Given the description of an element on the screen output the (x, y) to click on. 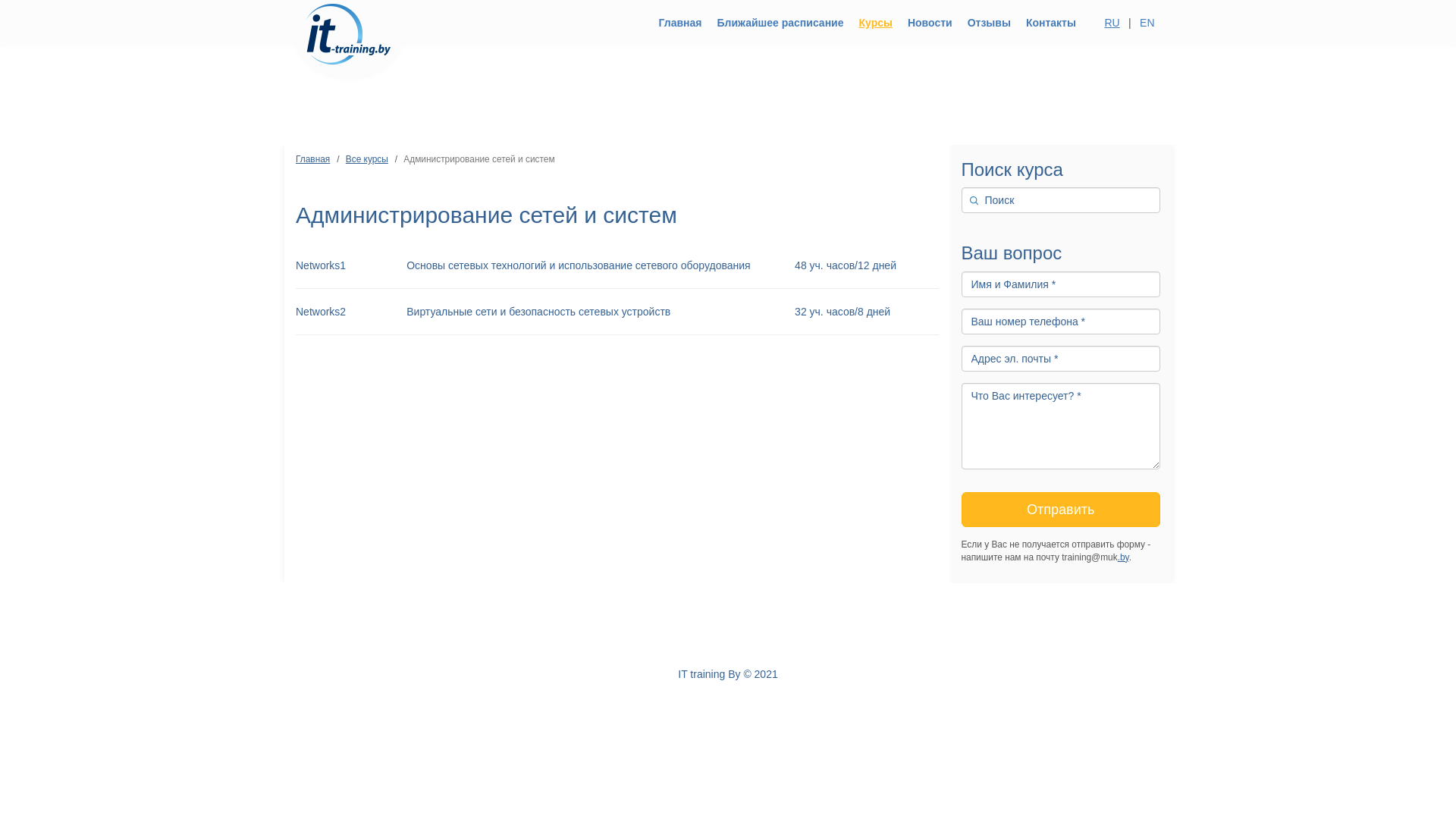
training@muk.by Element type: text (631, 621)
it-training.by Element type: hover (348, 22)
RU Element type: text (1111, 22)
EN Element type: text (1147, 22)
.by Element type: text (1123, 557)
